Given the description of an element on the screen output the (x, y) to click on. 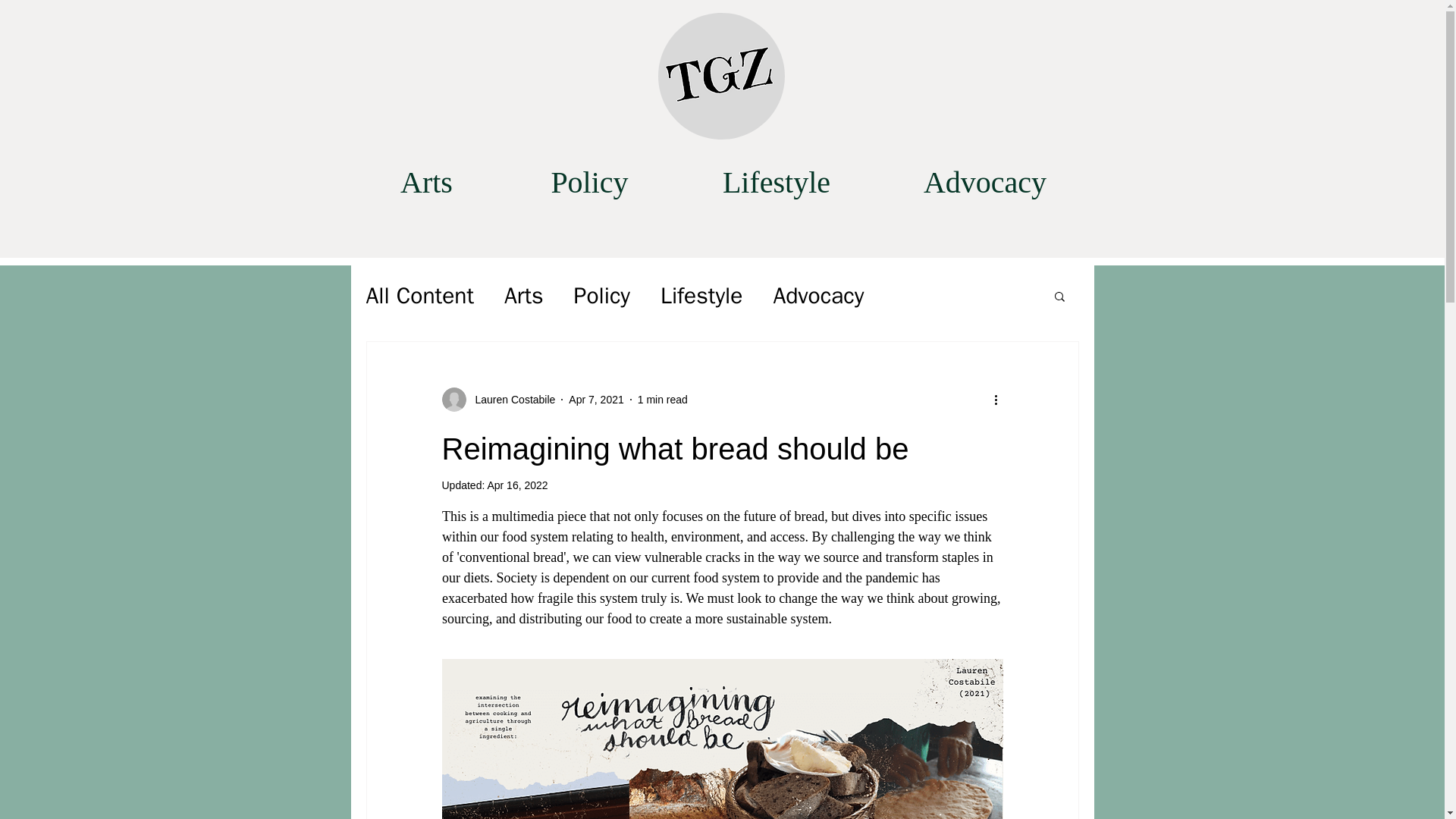
Lauren Costabile (497, 399)
Lauren Costabile (509, 399)
Advocacy (818, 296)
Apr 7, 2021 (596, 398)
Policy (590, 182)
All Content (419, 296)
Apr 16, 2022 (516, 485)
Advocacy (984, 182)
Lifestyle (701, 296)
Lifestyle (777, 182)
Arts (426, 182)
1 min read (662, 398)
Arts (523, 296)
Policy (601, 296)
